Given the description of an element on the screen output the (x, y) to click on. 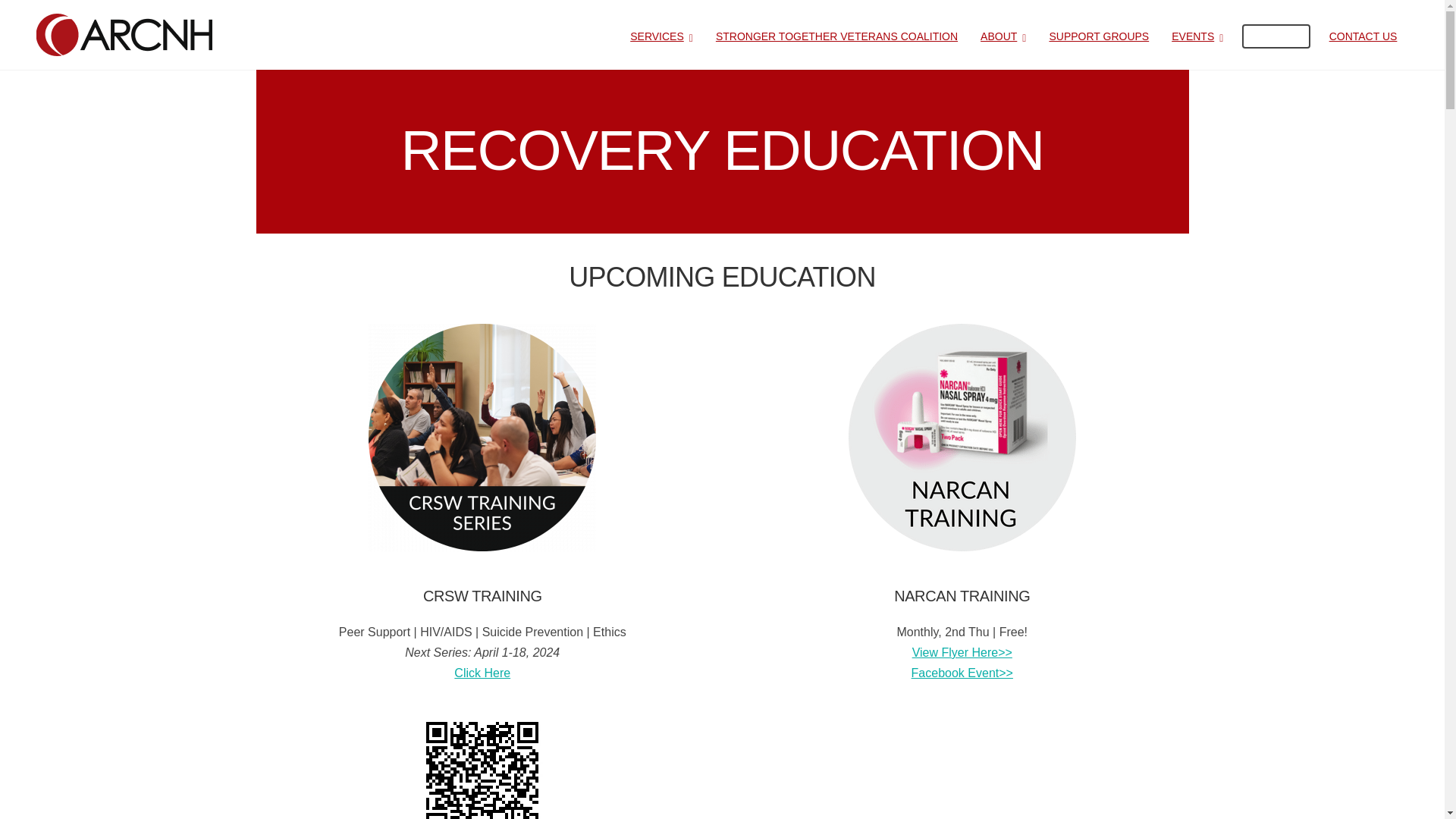
Instagram (245, 630)
Facebook (202, 630)
SUPPORT GROUPS (1098, 34)
DONATE (1274, 36)
STRONGER TOGETHER VETERANS COALITION (836, 34)
CONTACT US (1363, 34)
ABOUT (1002, 34)
EVENTS (1197, 34)
SERVICES (661, 34)
